Given the description of an element on the screen output the (x, y) to click on. 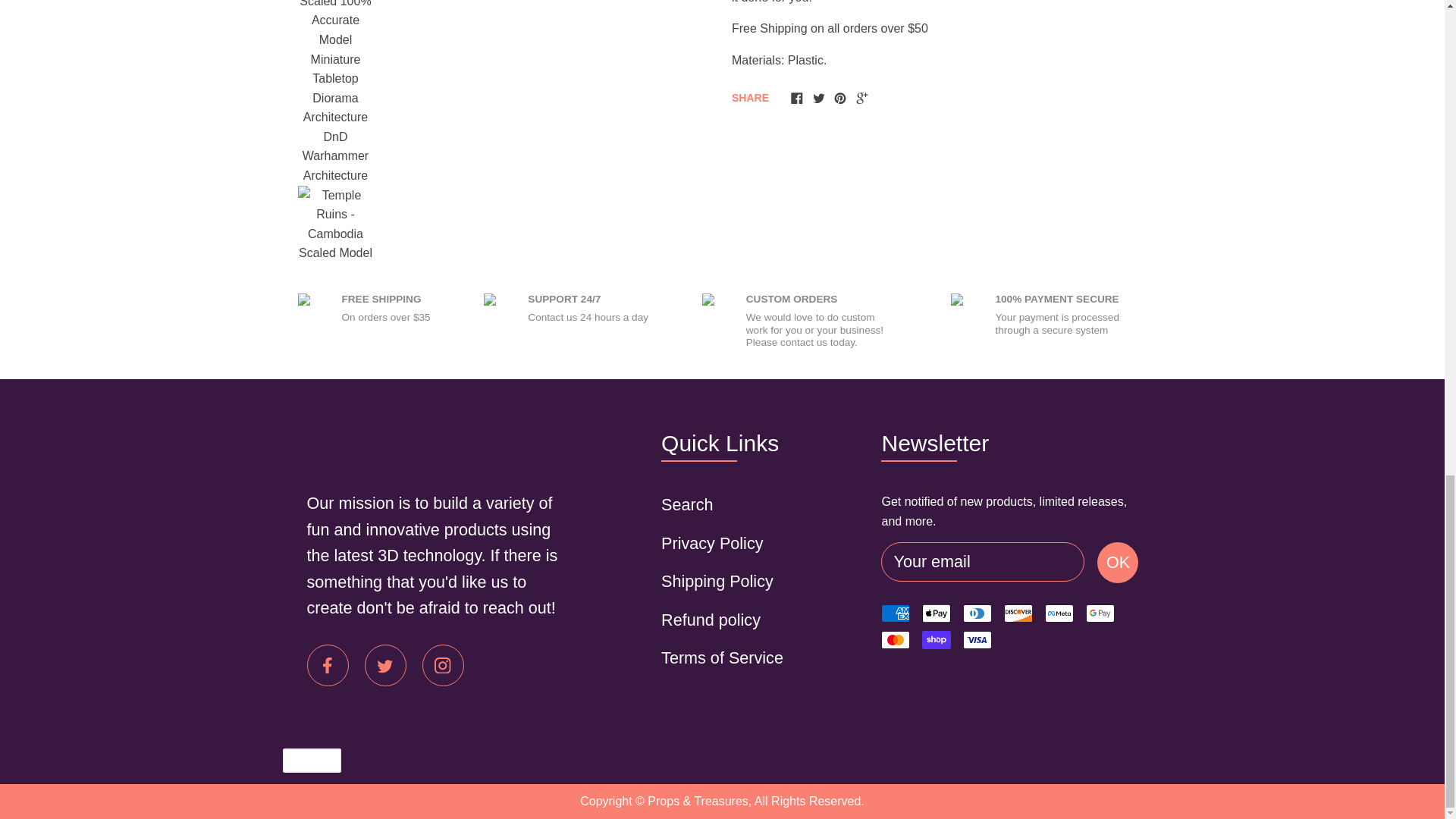
Facebook (796, 97)
Google Pay (1100, 613)
American Express (895, 613)
Meta Pay (1059, 613)
Twitter (818, 97)
Apple Pay (935, 613)
Mastercard (895, 639)
Discover (1018, 613)
Diners Club (976, 613)
OK (1117, 562)
